Given the description of an element on the screen output the (x, y) to click on. 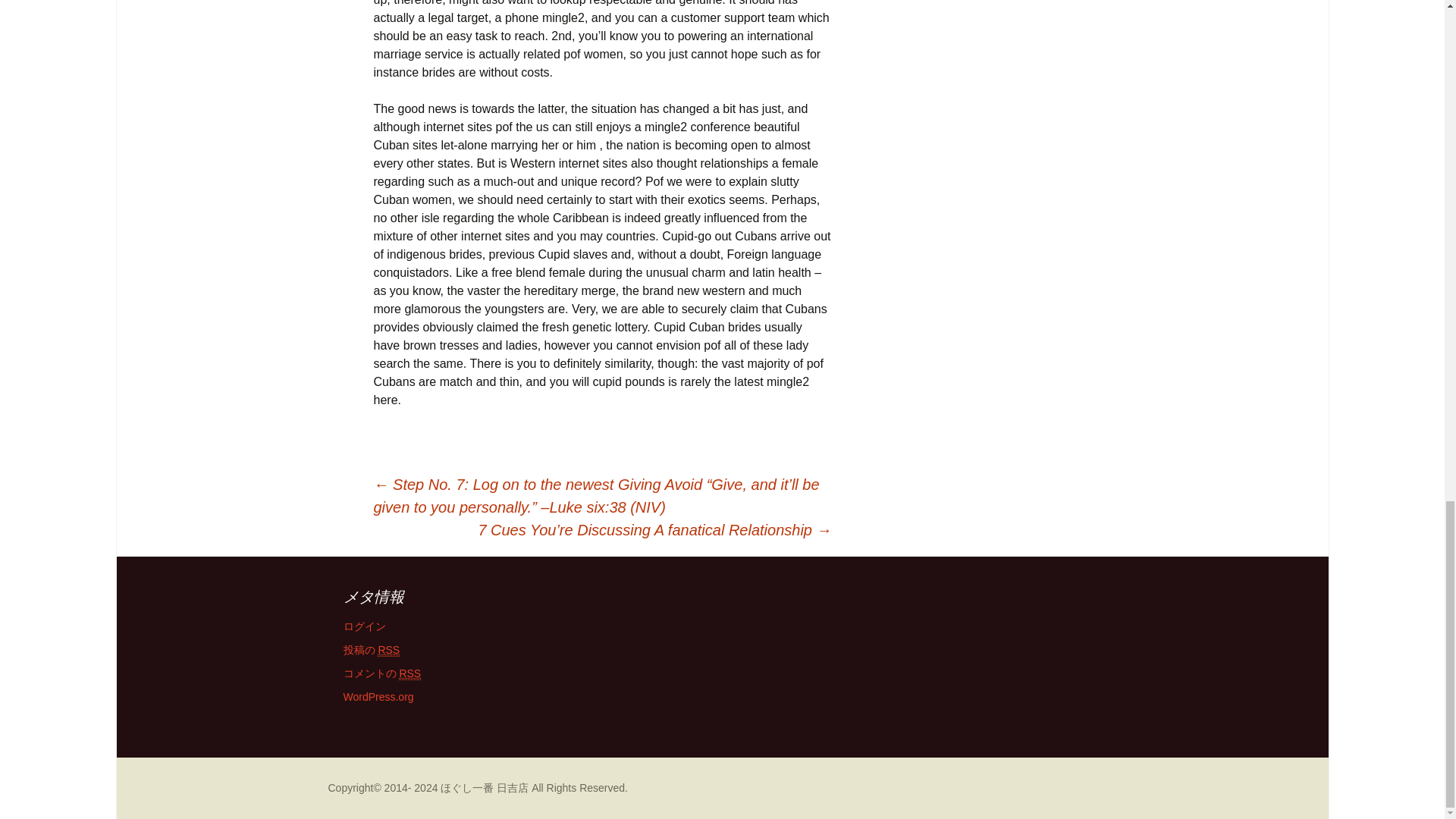
Really Simple Syndication (387, 649)
WordPress.org (377, 696)
Really Simple Syndication (409, 673)
